Given the description of an element on the screen output the (x, y) to click on. 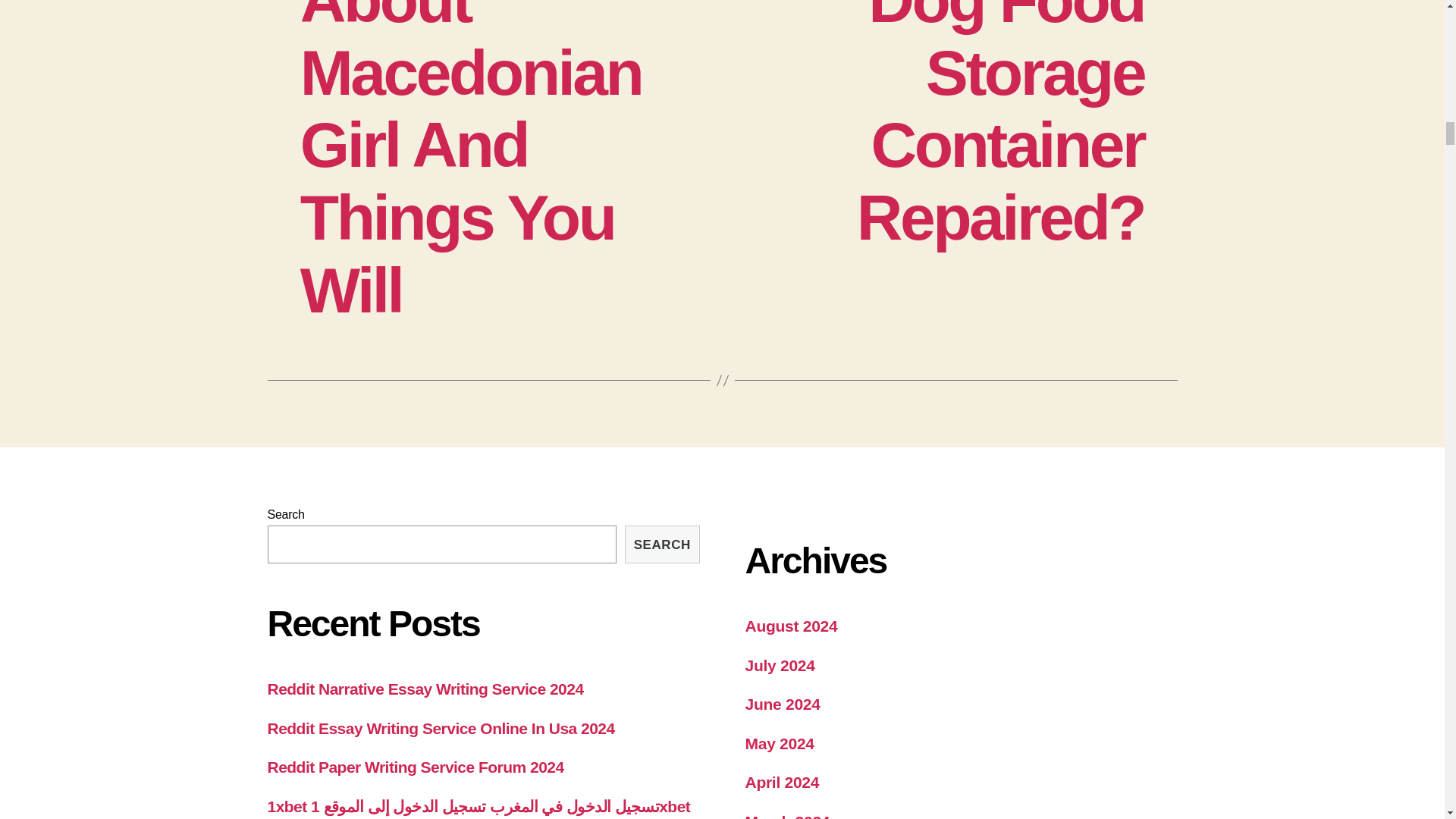
SEARCH (661, 544)
Reddit Paper Writing Service Forum 2024 (414, 766)
Reddit Narrative Essay Writing Service 2024 (424, 688)
Reddit Essay Writing Service Online In Usa 2024 (440, 728)
